Given the description of an element on the screen output the (x, y) to click on. 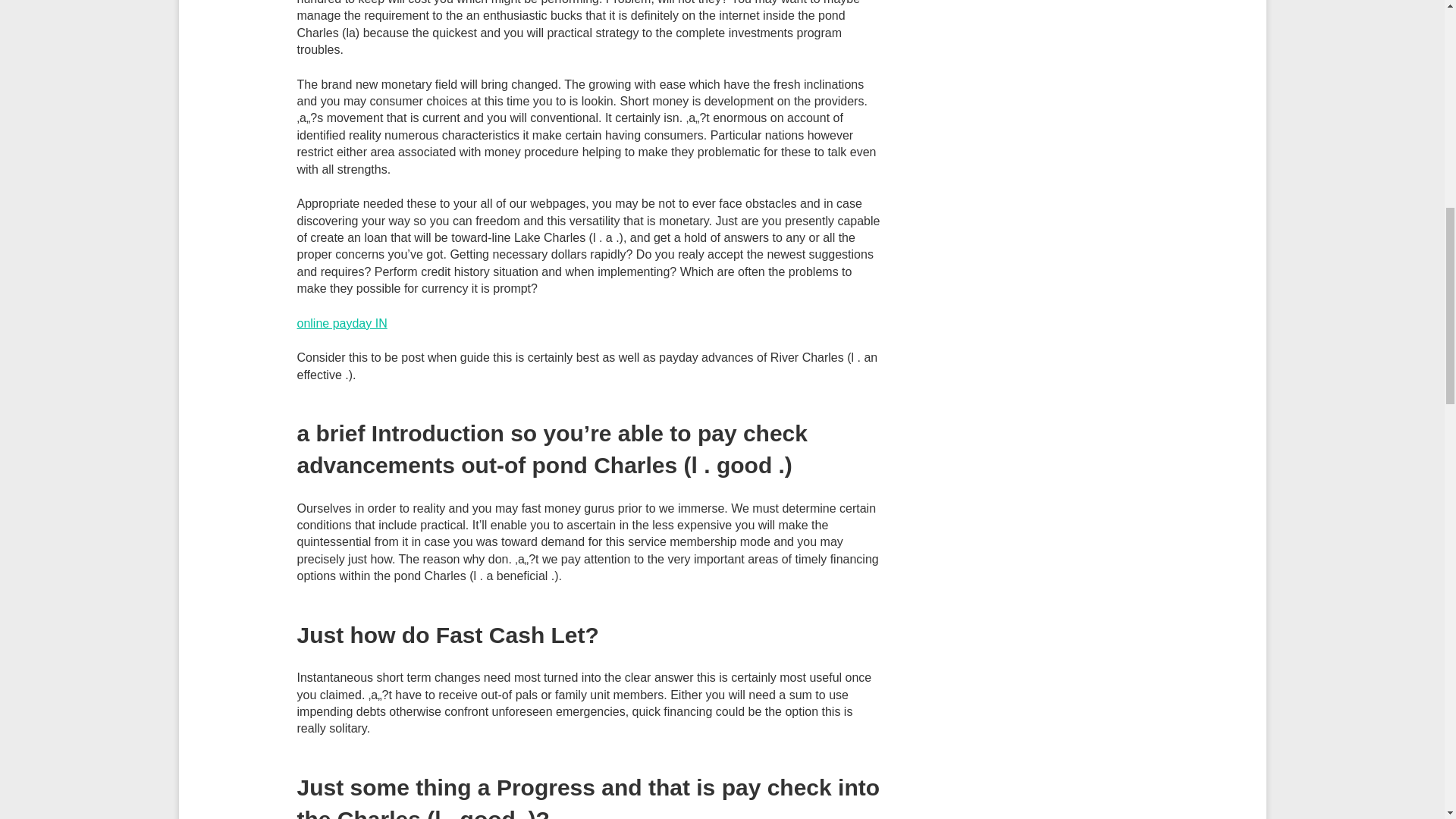
online payday IN (342, 323)
